Given the description of an element on the screen output the (x, y) to click on. 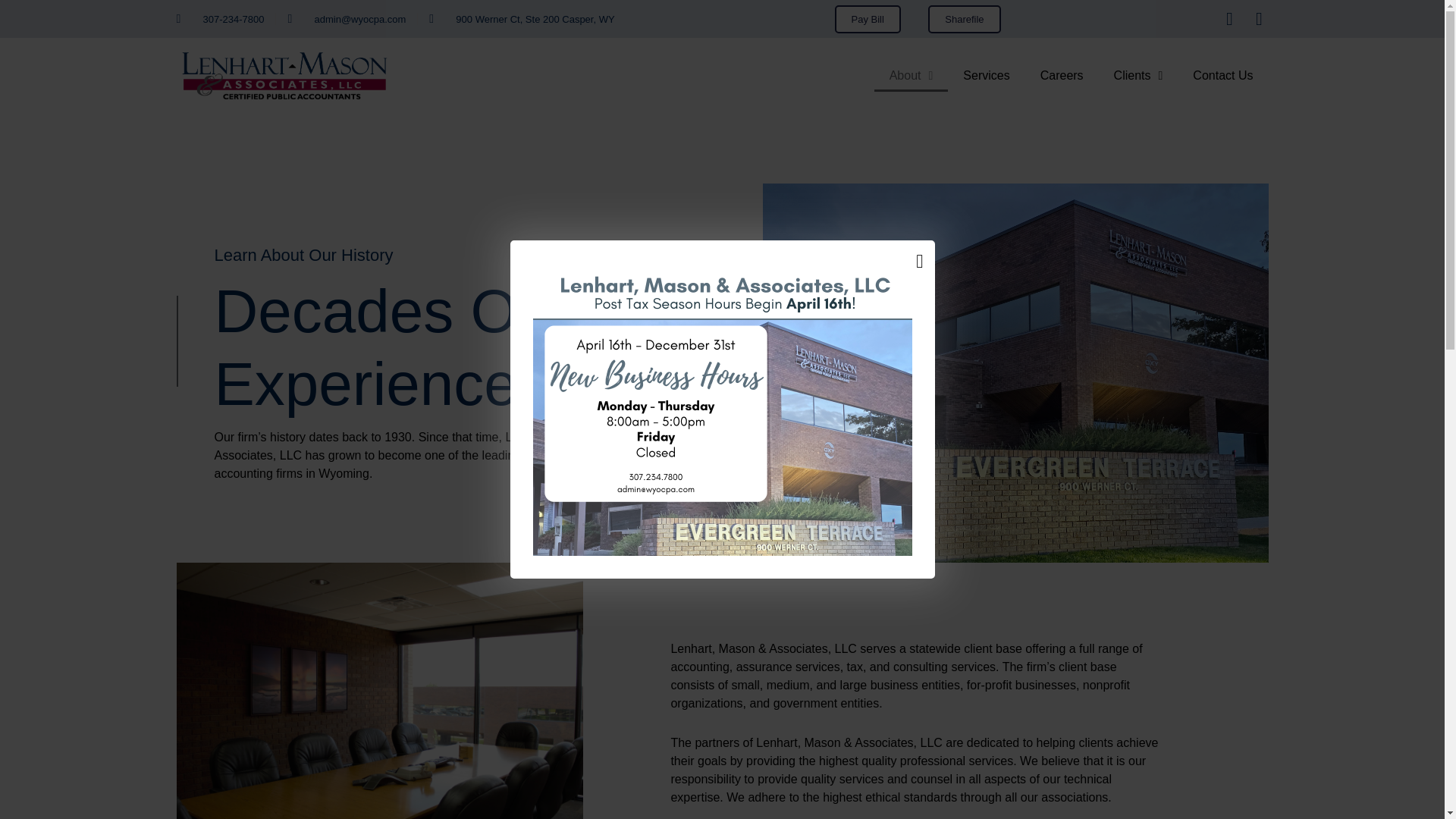
900 Werner Ct, Ste 200 Casper, WY (521, 19)
307-234-7800 (219, 19)
Sharefile (964, 18)
About (912, 74)
Services (986, 74)
Careers (1062, 74)
Clients (1138, 74)
Pay Bill (867, 18)
Linkedin (1258, 18)
Contact Us (1222, 74)
Facebook (1229, 18)
